Given the description of an element on the screen output the (x, y) to click on. 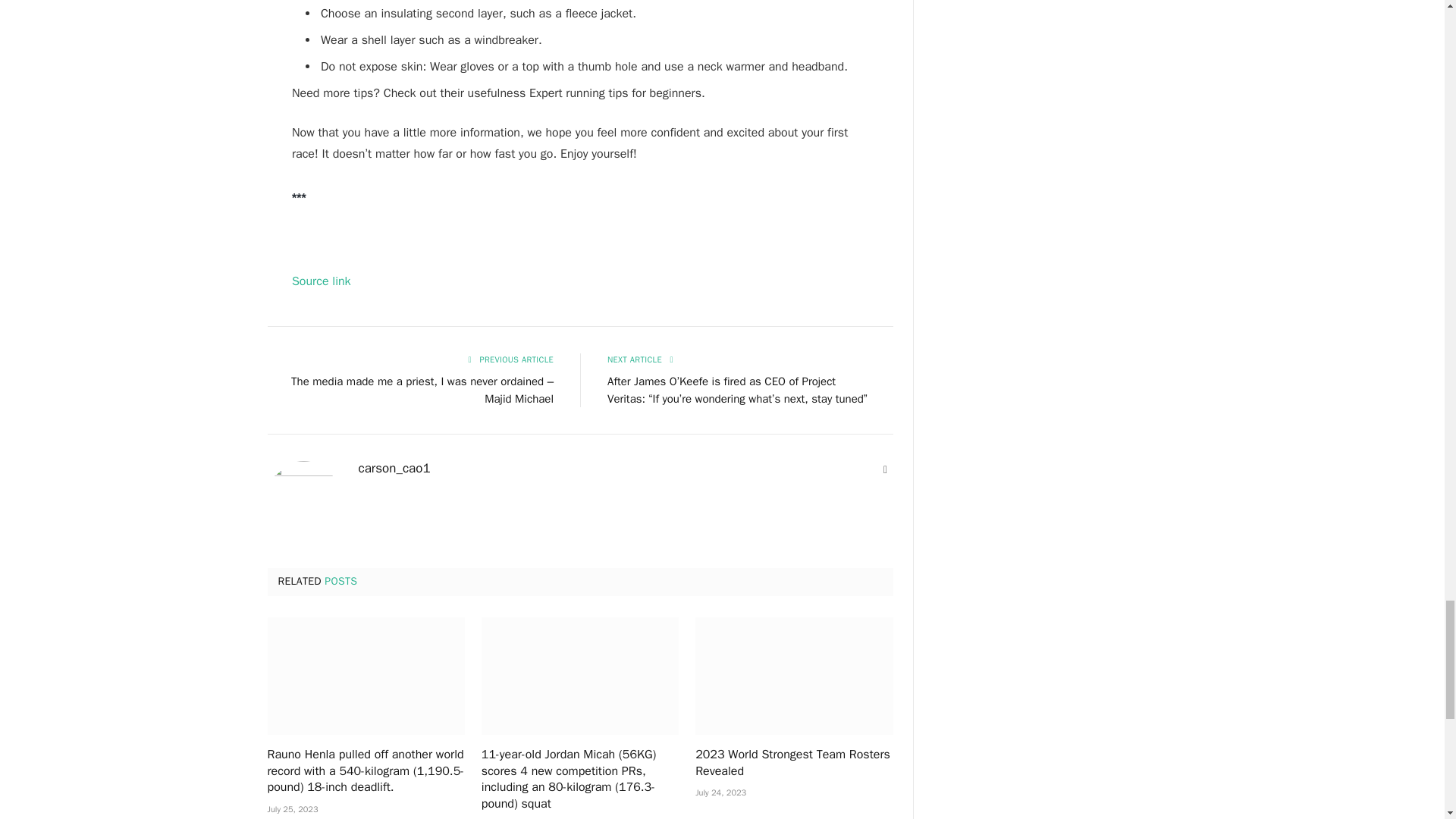
Website (885, 469)
Source link (321, 281)
2023 World Strongest Team Rosters Revealed (793, 763)
Website (885, 469)
2023 World Strongest Team Rosters Revealed (793, 675)
